Given the description of an element on the screen output the (x, y) to click on. 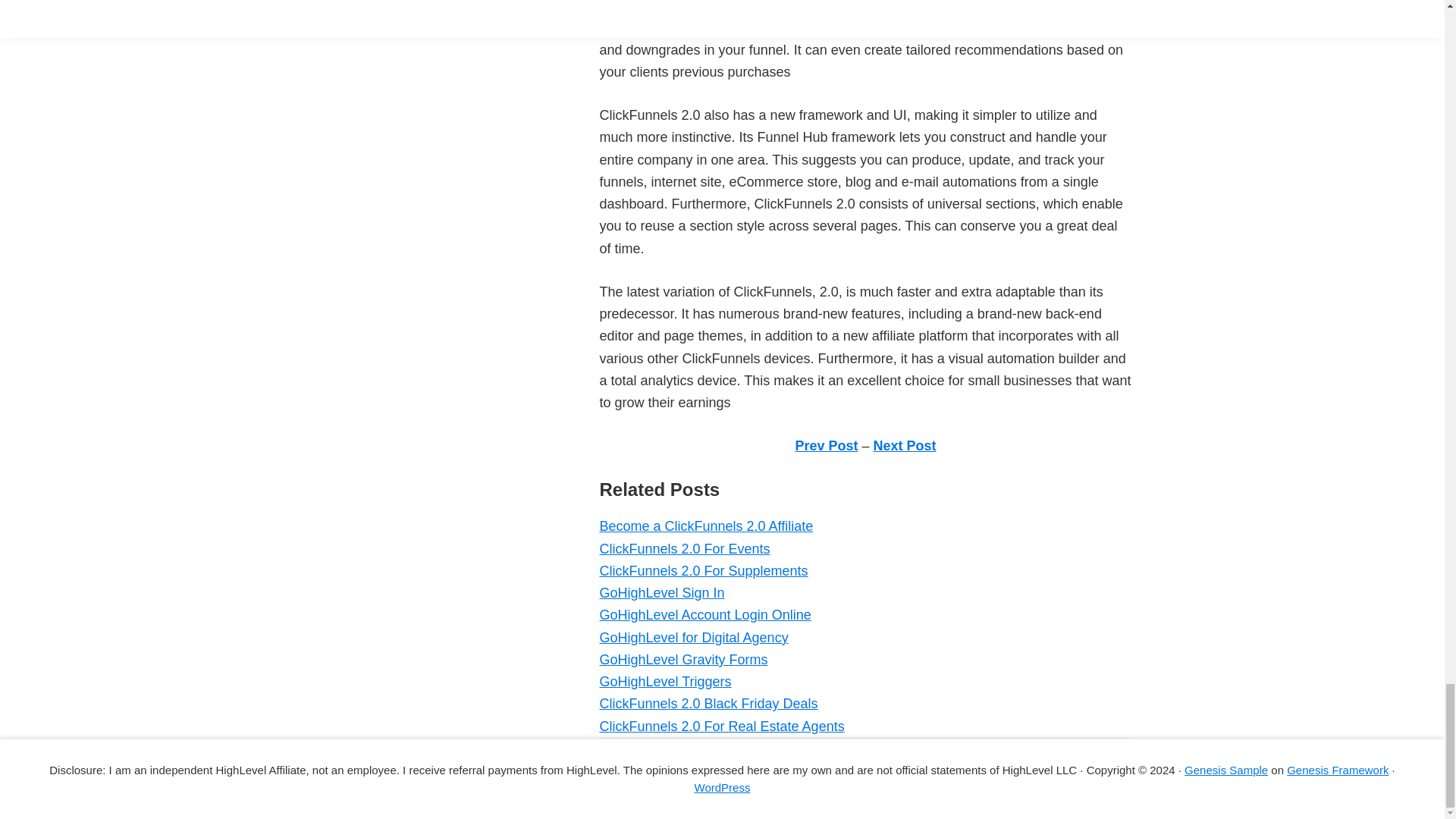
ClickFunnels 2.0 For Supplements (703, 570)
Become a ClickFunnels 2.0 Affiliate (705, 525)
GoHighLevel Triggers (664, 681)
ClickFunnels 2.0 For Events (684, 548)
ClickFunnels 2.0 For Real Estate Agents (721, 726)
GoHighLevel Sign In (660, 592)
Next Post (904, 445)
ClickFunnels 2.0 For Real Estate Agents (721, 726)
GoHighLevel for Digital Agency (692, 637)
GoHighLevel Account Login Online (704, 614)
